Given the description of an element on the screen output the (x, y) to click on. 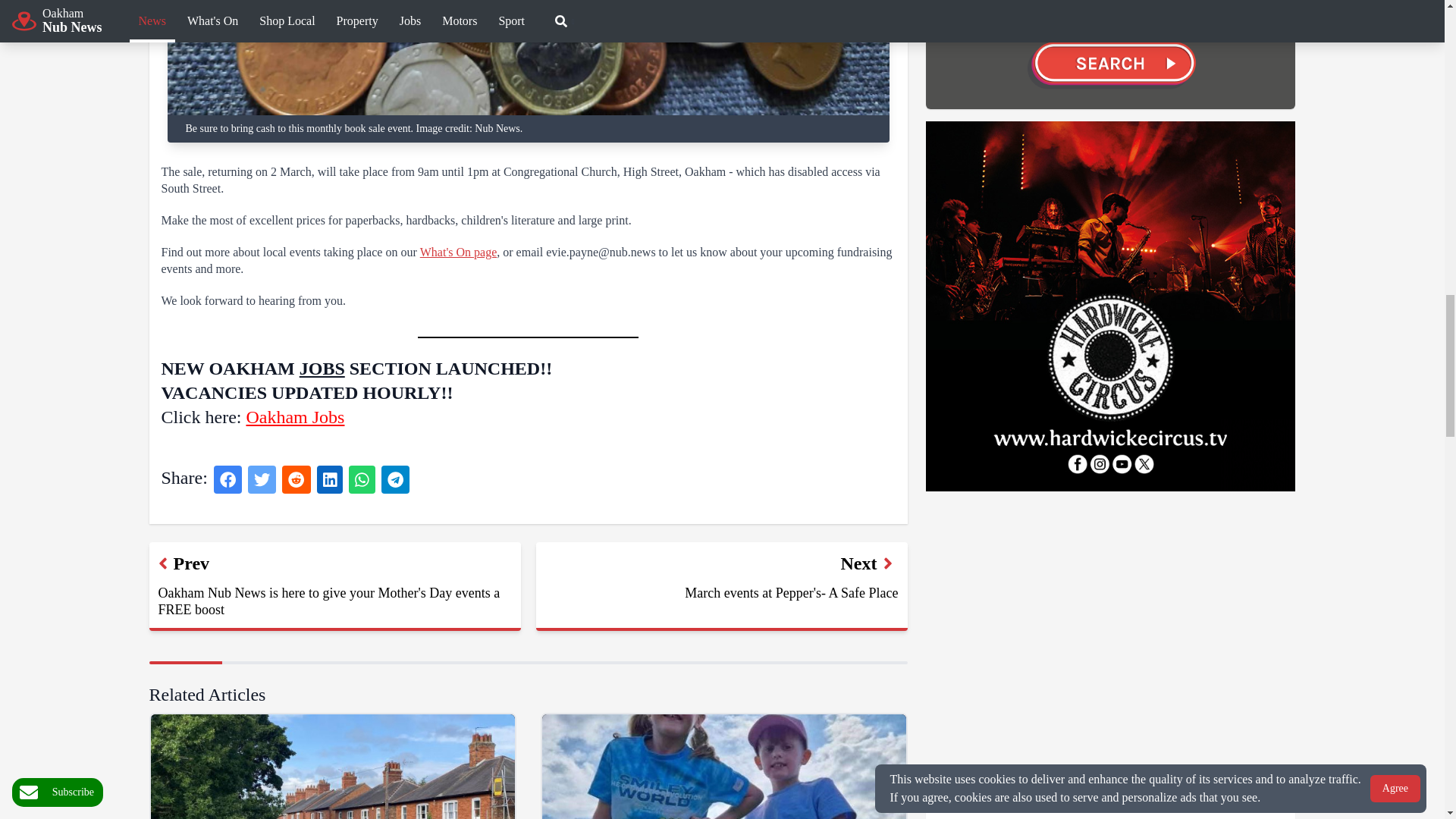
3rd party ad content (1061, 642)
